Given the description of an element on the screen output the (x, y) to click on. 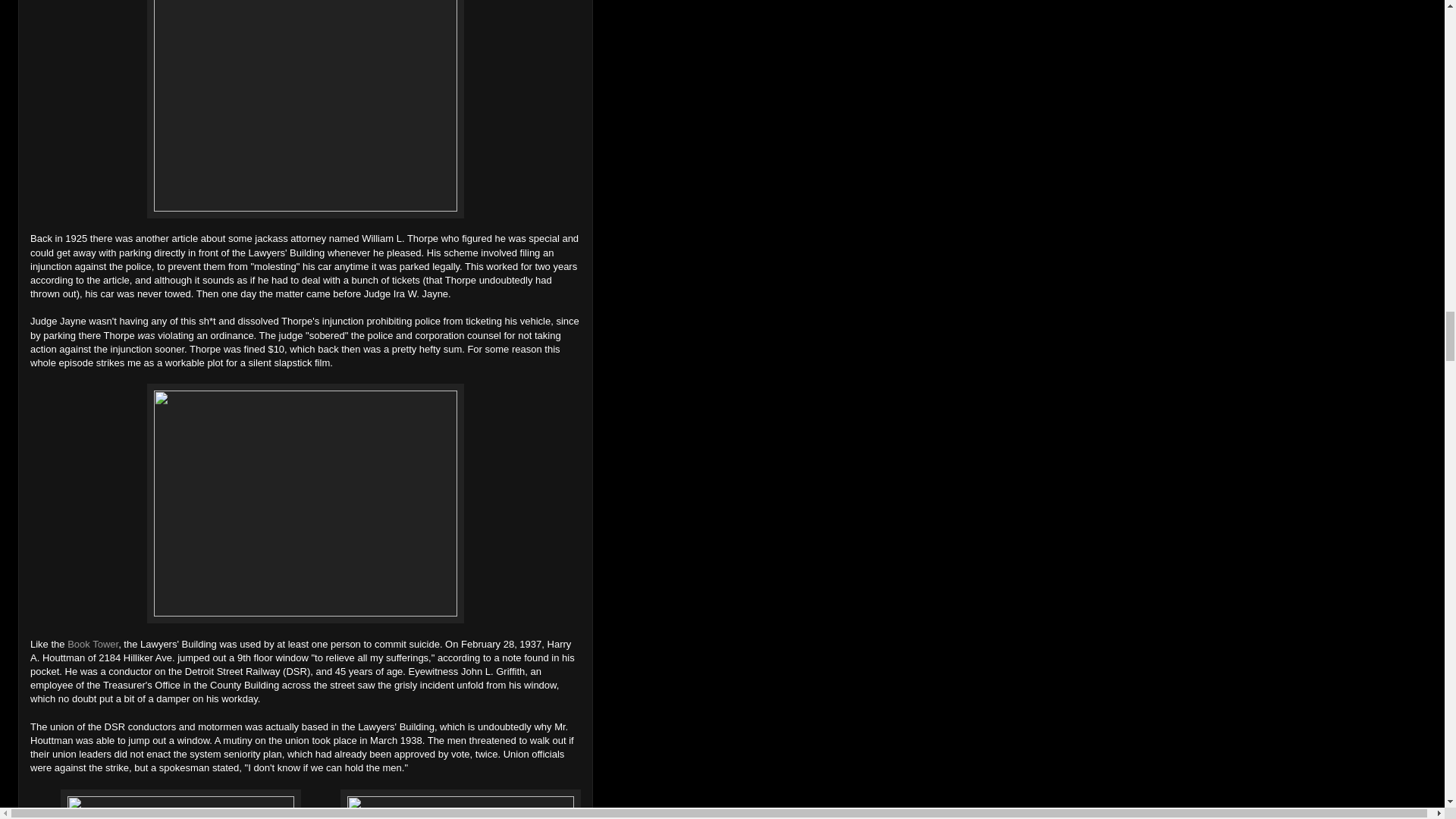
Book Tower (91, 644)
